Given the description of an element on the screen output the (x, y) to click on. 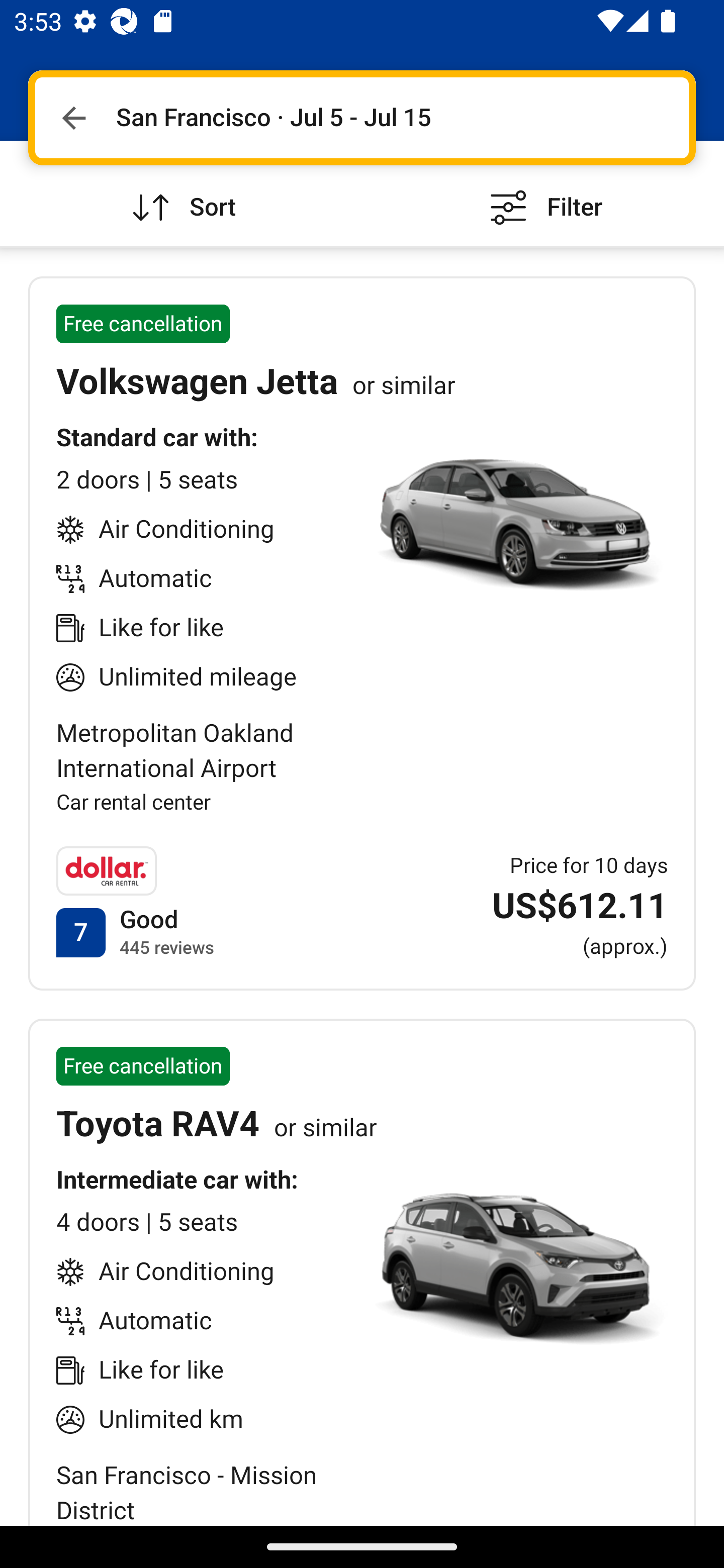
Back to previous screen (73, 117)
Sort (181, 193)
Filter (543, 193)
